Given the description of an element on the screen output the (x, y) to click on. 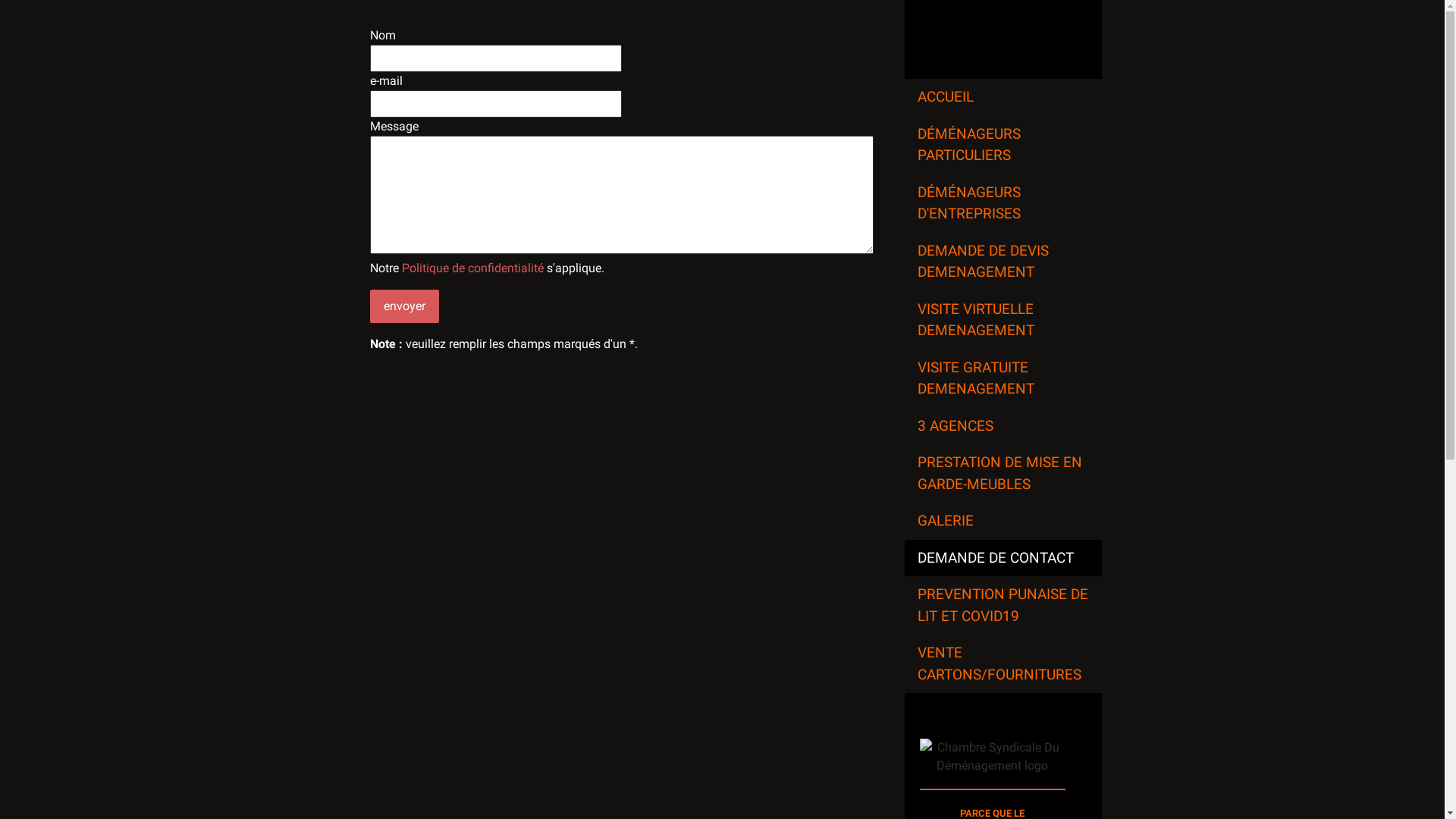
PRESTATION DE MISE EN GARDE-MEUBLES Element type: text (1002, 473)
VISITE GRATUITE DEMENAGEMENT Element type: text (1002, 377)
DEMANDE DE DEVIS DEMENAGEMENT Element type: text (1002, 261)
DEMANDE DE CONTACT Element type: text (1002, 558)
envoyer Element type: text (404, 306)
GALERIE Element type: text (1002, 520)
VISITE VIRTUELLE DEMENAGEMENT Element type: text (1002, 320)
PREVENTION PUNAISE DE LIT ET COVID19 Element type: text (1002, 605)
VENTE CARTONS/FOURNITURES Element type: text (1002, 663)
ACCUEIL Element type: text (1002, 97)
3 AGENCES Element type: text (1002, 426)
